Given the description of an element on the screen output the (x, y) to click on. 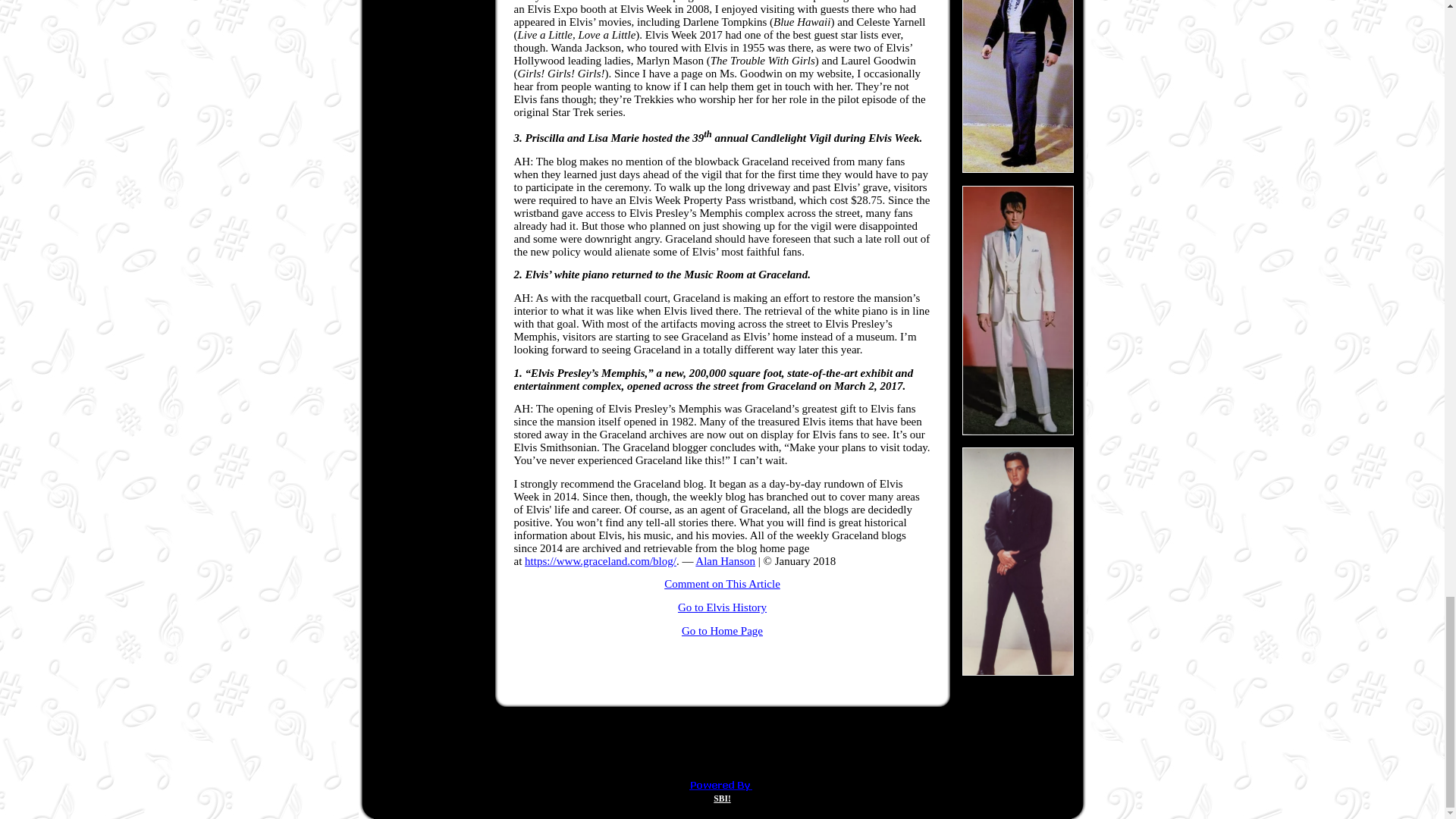
Alan Hanson (725, 561)
Trouble With Girls Standup 2 (1018, 309)
Comment on This Article (721, 583)
SBI! (721, 798)
Go to Elvis History (722, 607)
Go to Home Page (721, 630)
Elvi in Frankie and Johnny (1018, 86)
